Given the description of an element on the screen output the (x, y) to click on. 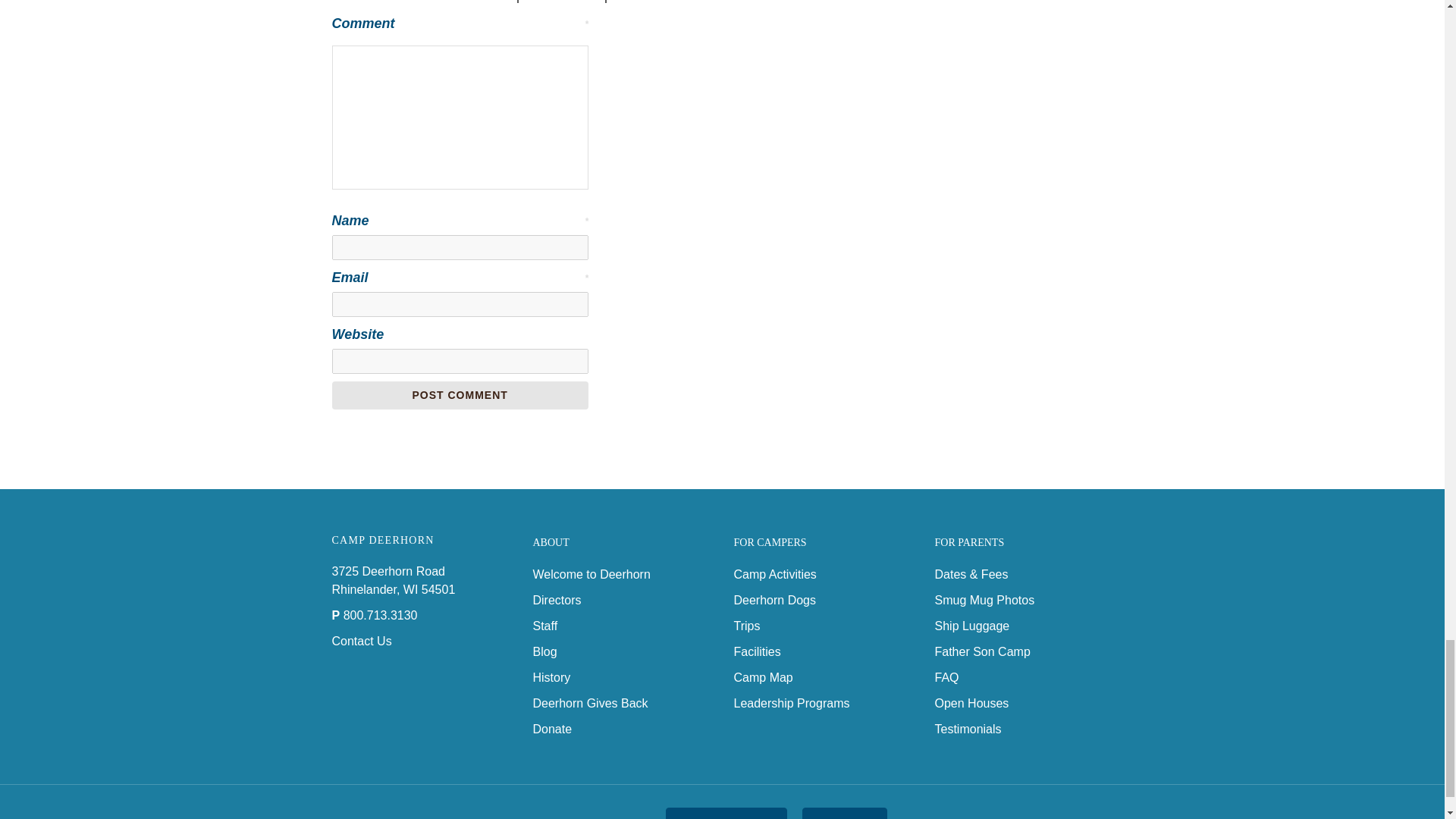
Post Comment (459, 395)
